Given the description of an element on the screen output the (x, y) to click on. 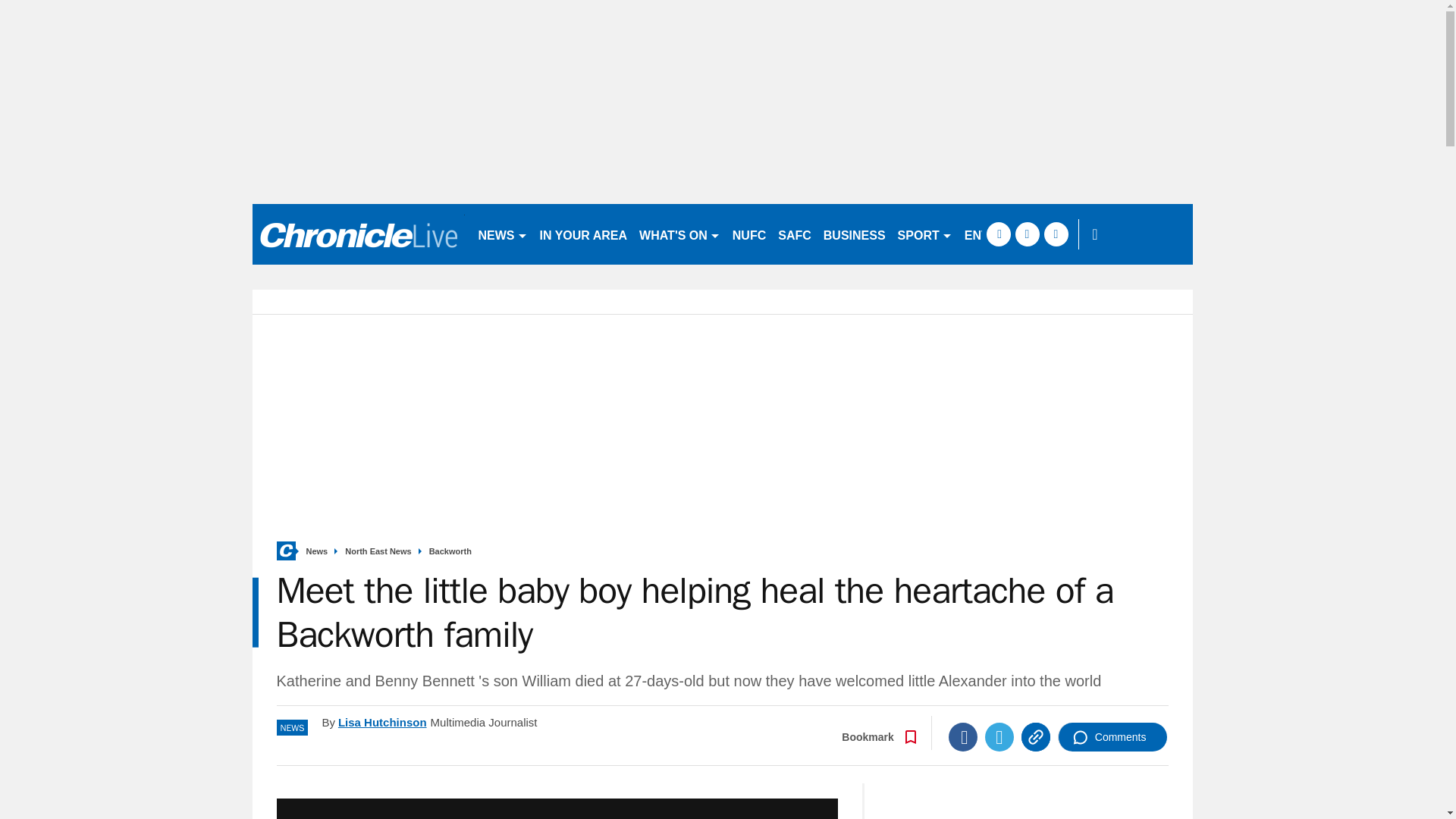
Comments (1112, 736)
IN YOUR AREA (583, 233)
Facebook (962, 736)
twitter (1026, 233)
NEWS (501, 233)
WHAT'S ON (679, 233)
instagram (1055, 233)
BUSINESS (853, 233)
SPORT (924, 233)
Twitter (999, 736)
